Given the description of an element on the screen output the (x, y) to click on. 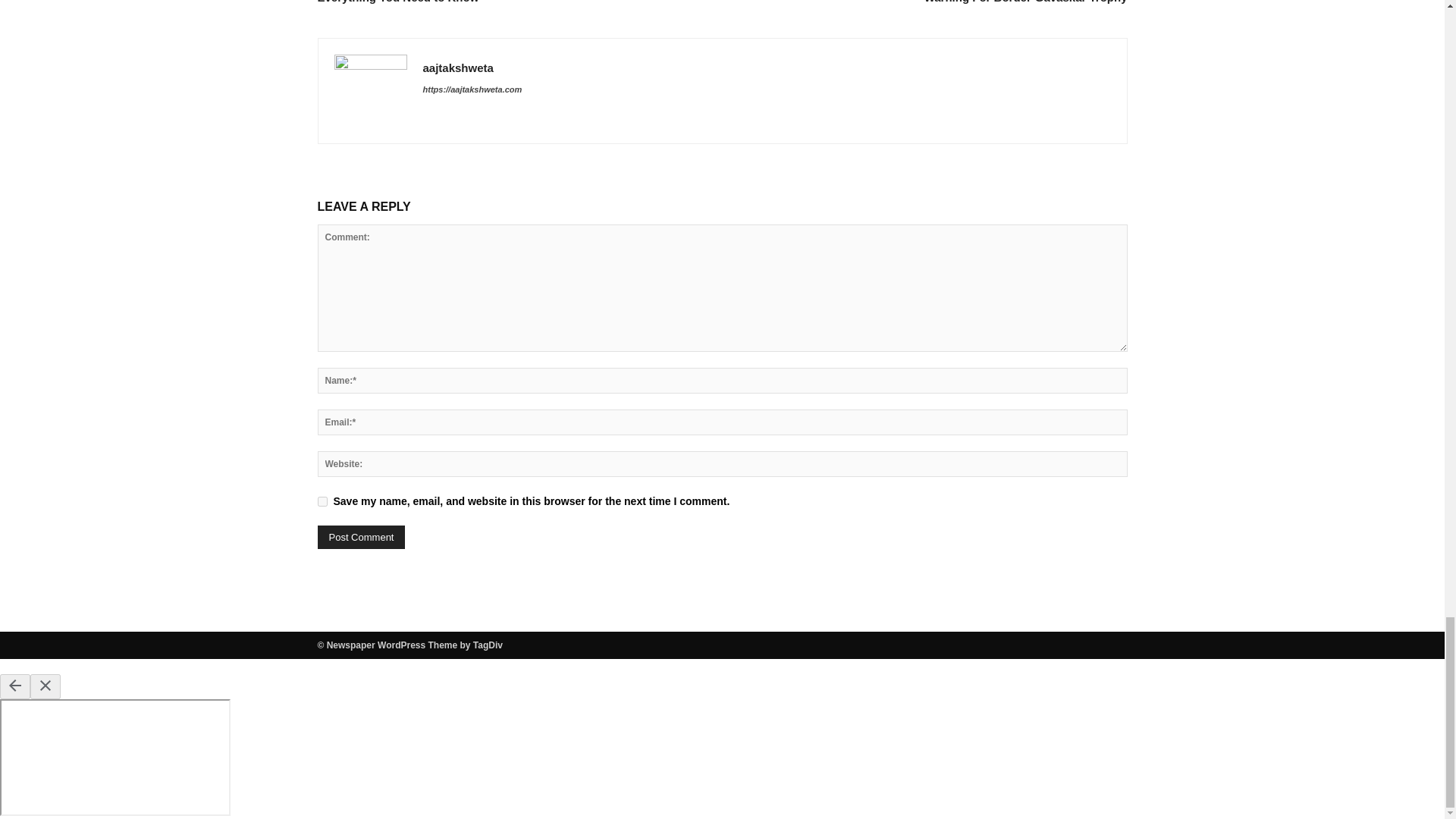
aajtakshweta (458, 67)
Post Comment (360, 536)
Post Comment (360, 536)
yes (321, 501)
